Given the description of an element on the screen output the (x, y) to click on. 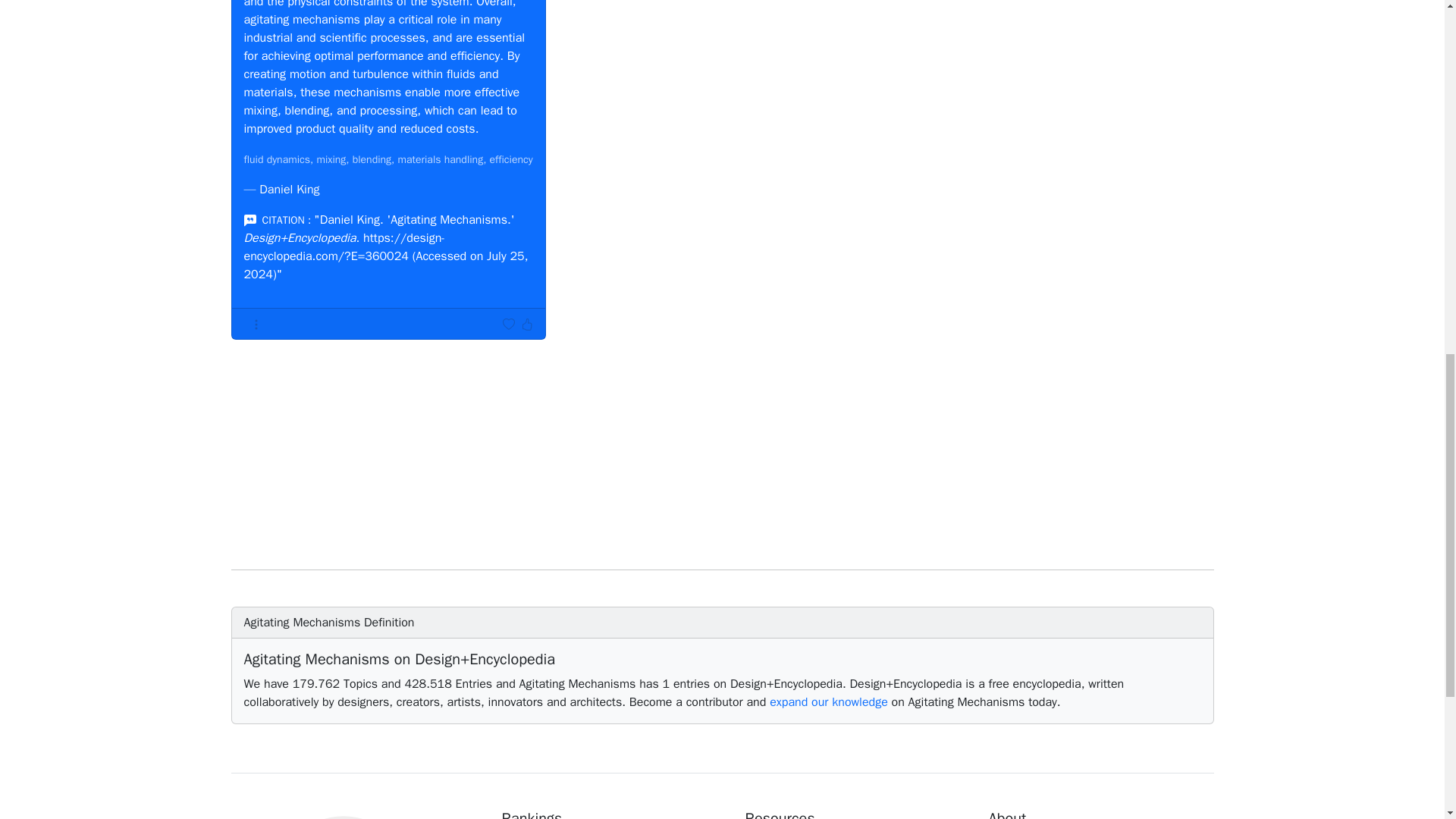
expand our knowledge (829, 702)
Daniel King (288, 189)
